Given the description of an element on the screen output the (x, y) to click on. 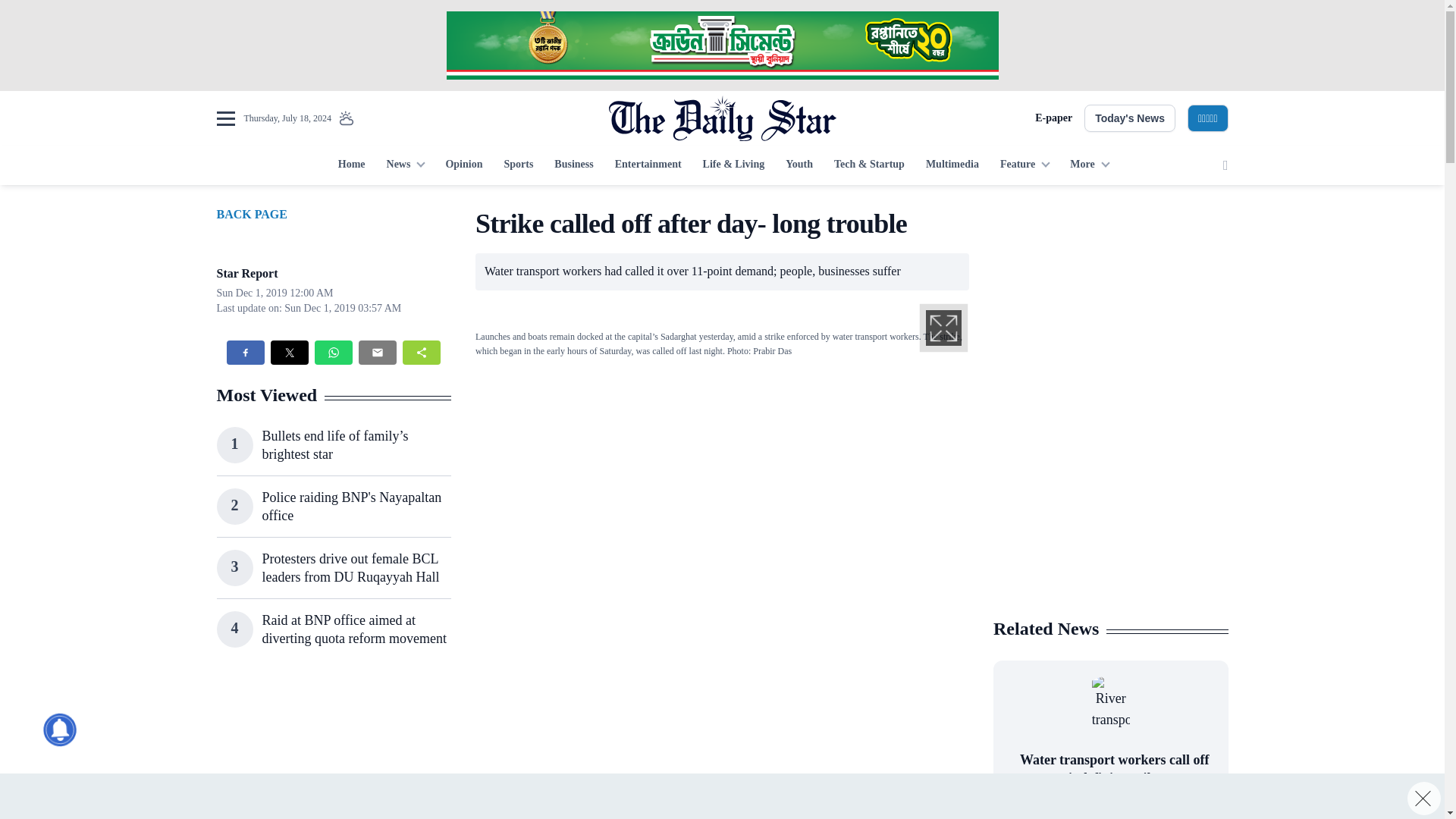
News (405, 165)
Business (573, 165)
Today's News (1129, 117)
Opinion (463, 165)
3rd party ad content (1110, 302)
Youth (799, 165)
Multimedia (952, 165)
3rd party ad content (332, 749)
3rd party ad content (1110, 506)
Home (351, 165)
E-paper (1053, 117)
3rd party ad content (714, 749)
3rd party ad content (721, 45)
Entertainment (647, 165)
